Given the description of an element on the screen output the (x, y) to click on. 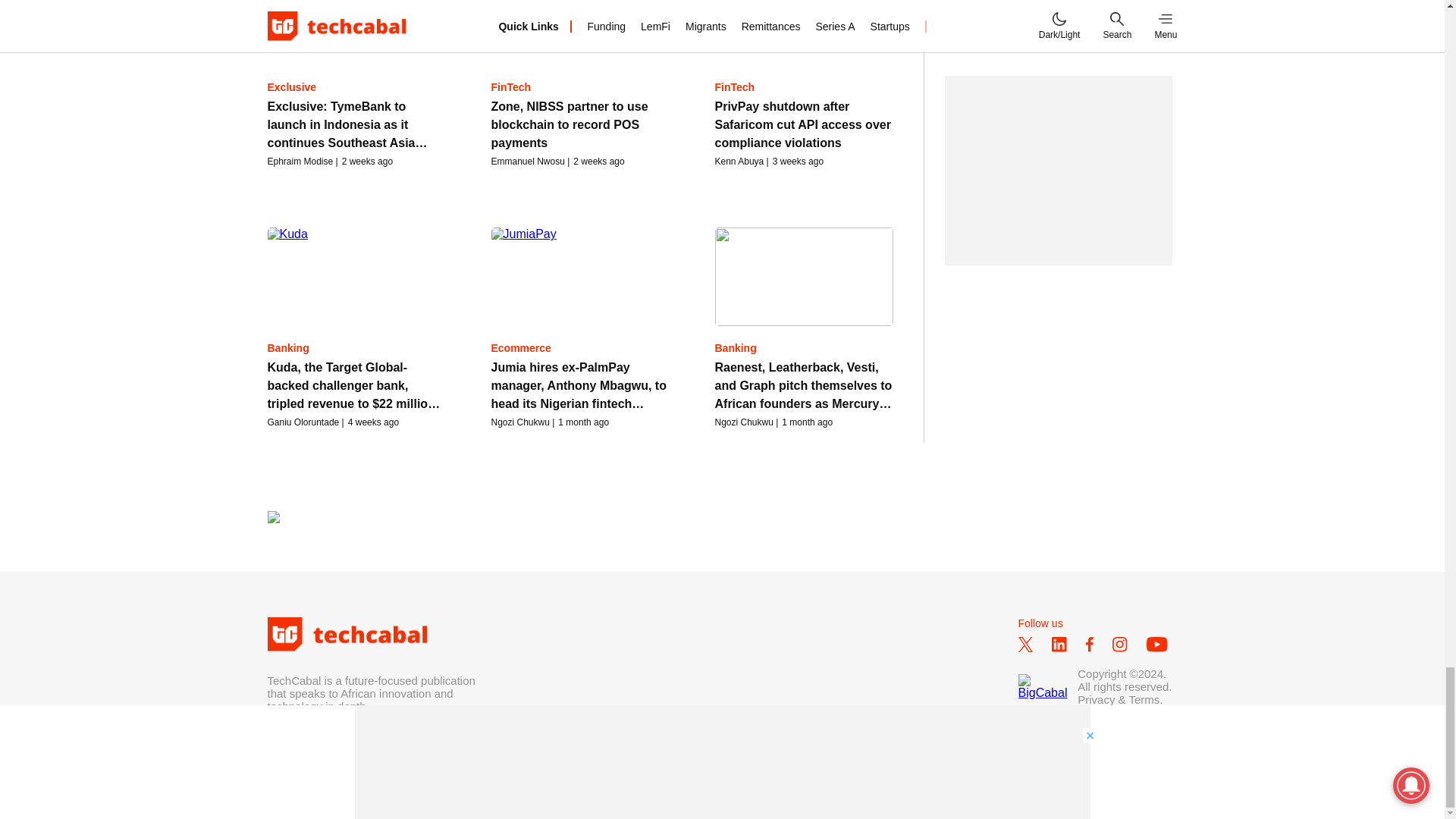
Posts by Ngozi Chukwu (521, 421)
Posts by Ganiu Oloruntade (302, 421)
Posts by Ngozi Chukwu (743, 421)
Posts by Ephraim Modise (299, 161)
Posts by Kenn Abuya (738, 161)
Posts by Emmanuel Nwosu (528, 161)
